Given the description of an element on the screen output the (x, y) to click on. 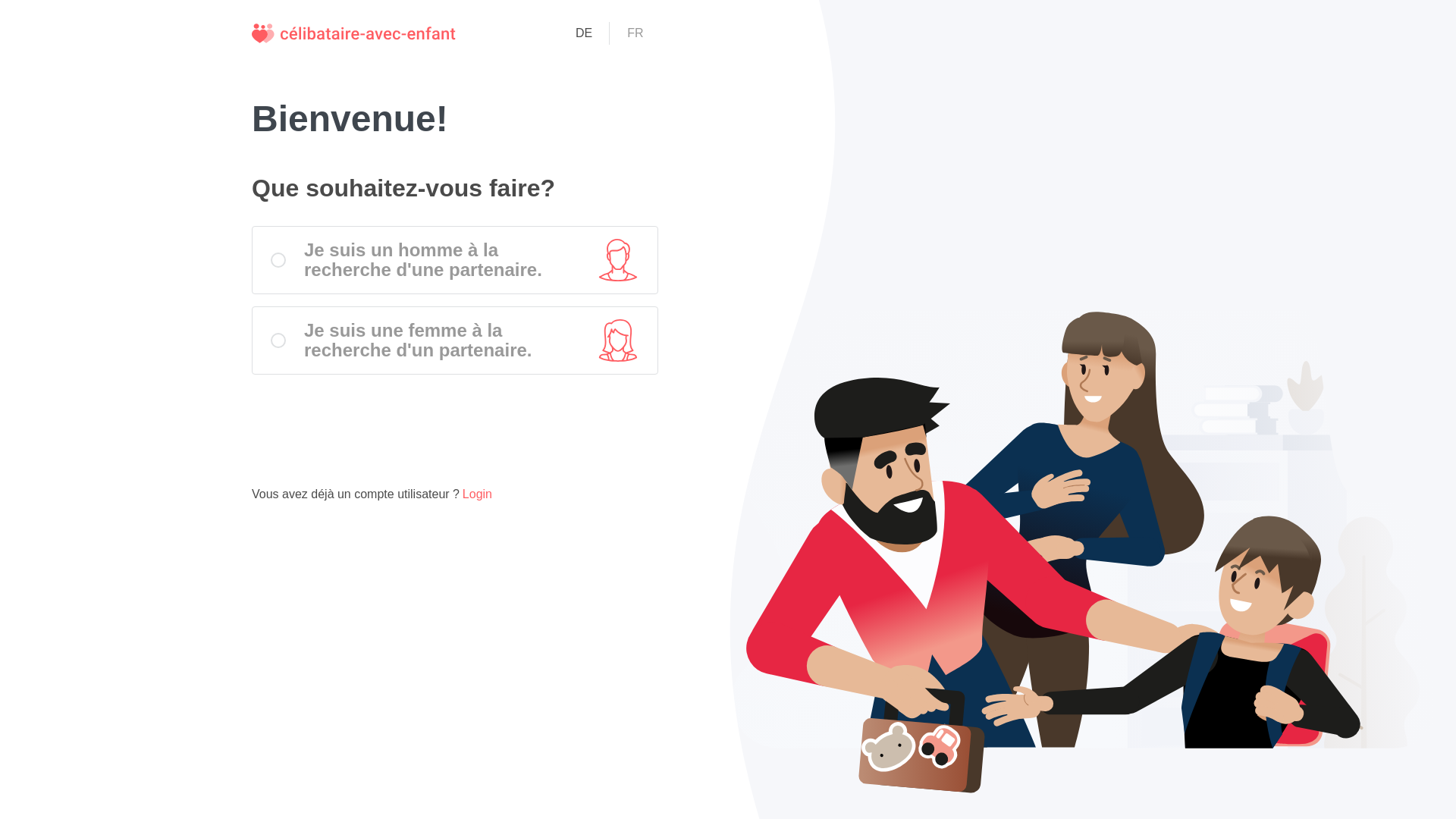
FR Element type: text (635, 33)
DE Element type: text (583, 33)
Login Element type: text (477, 493)
